Given the description of an element on the screen output the (x, y) to click on. 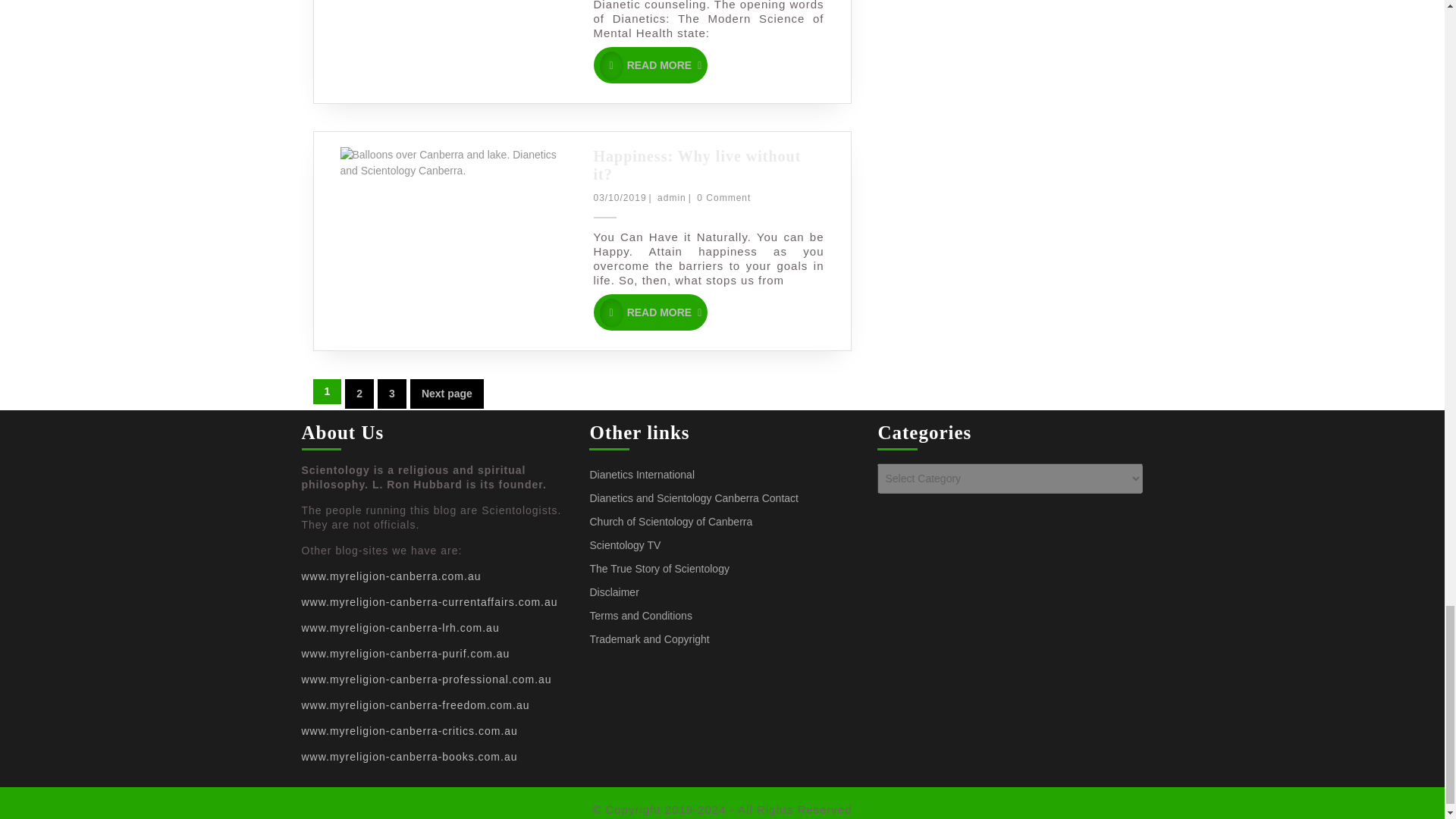
www.myreligion-canberra-currentaffairs.com.au (359, 393)
www.myreligion-canberra.com.au (391, 393)
Next page (649, 312)
